Given the description of an element on the screen output the (x, y) to click on. 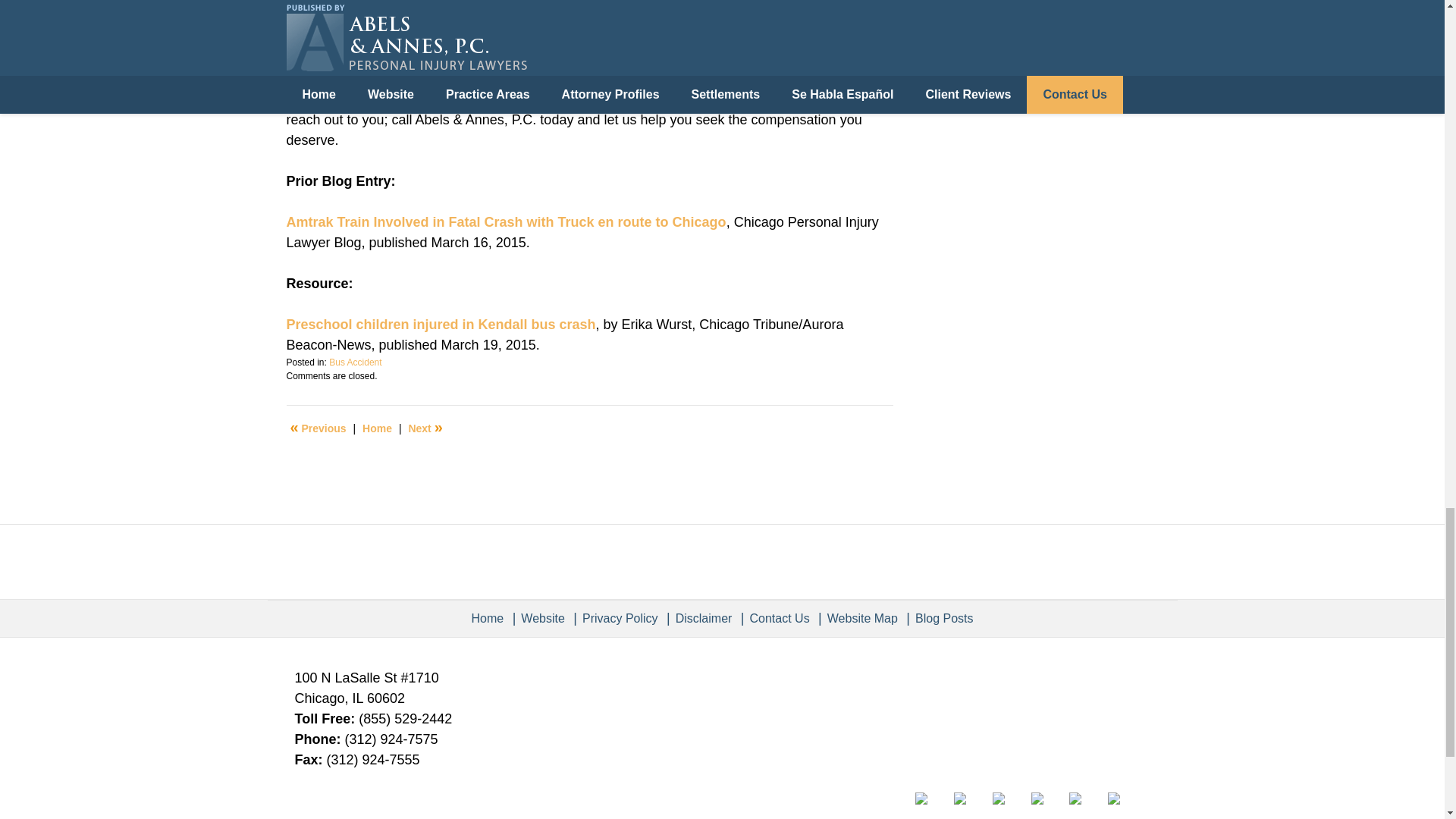
Feed (1125, 798)
LinkedIn (1009, 798)
Justia (1047, 798)
View all posts in Bus Accident (355, 362)
Twitter (970, 798)
YouTube (1085, 798)
Two Car Crash on I-290 Injures 7 (424, 428)
Facebook (932, 798)
